Given the description of an element on the screen output the (x, y) to click on. 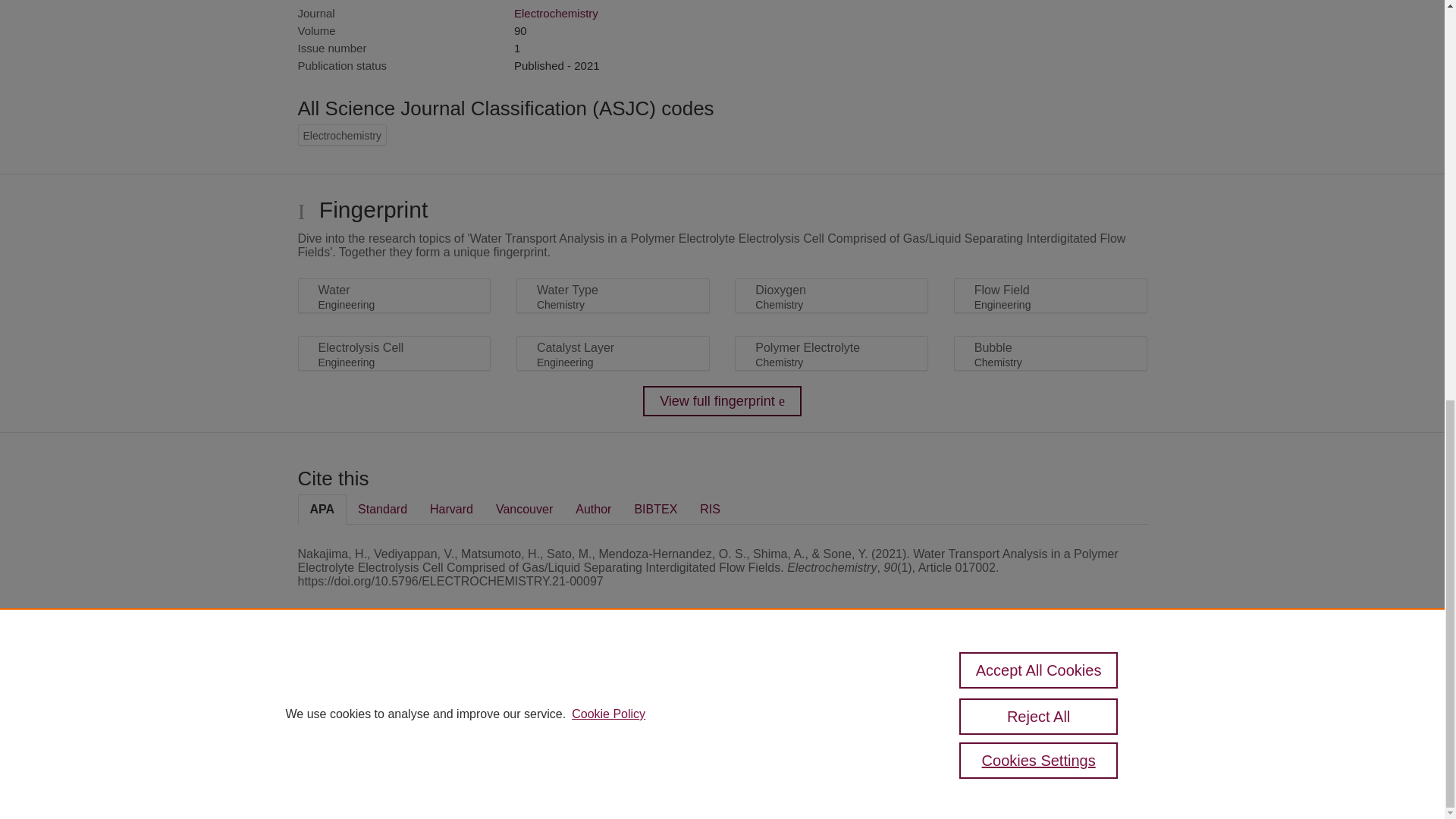
Electrochemistry (555, 12)
View full fingerprint (722, 400)
